Given the description of an element on the screen output the (x, y) to click on. 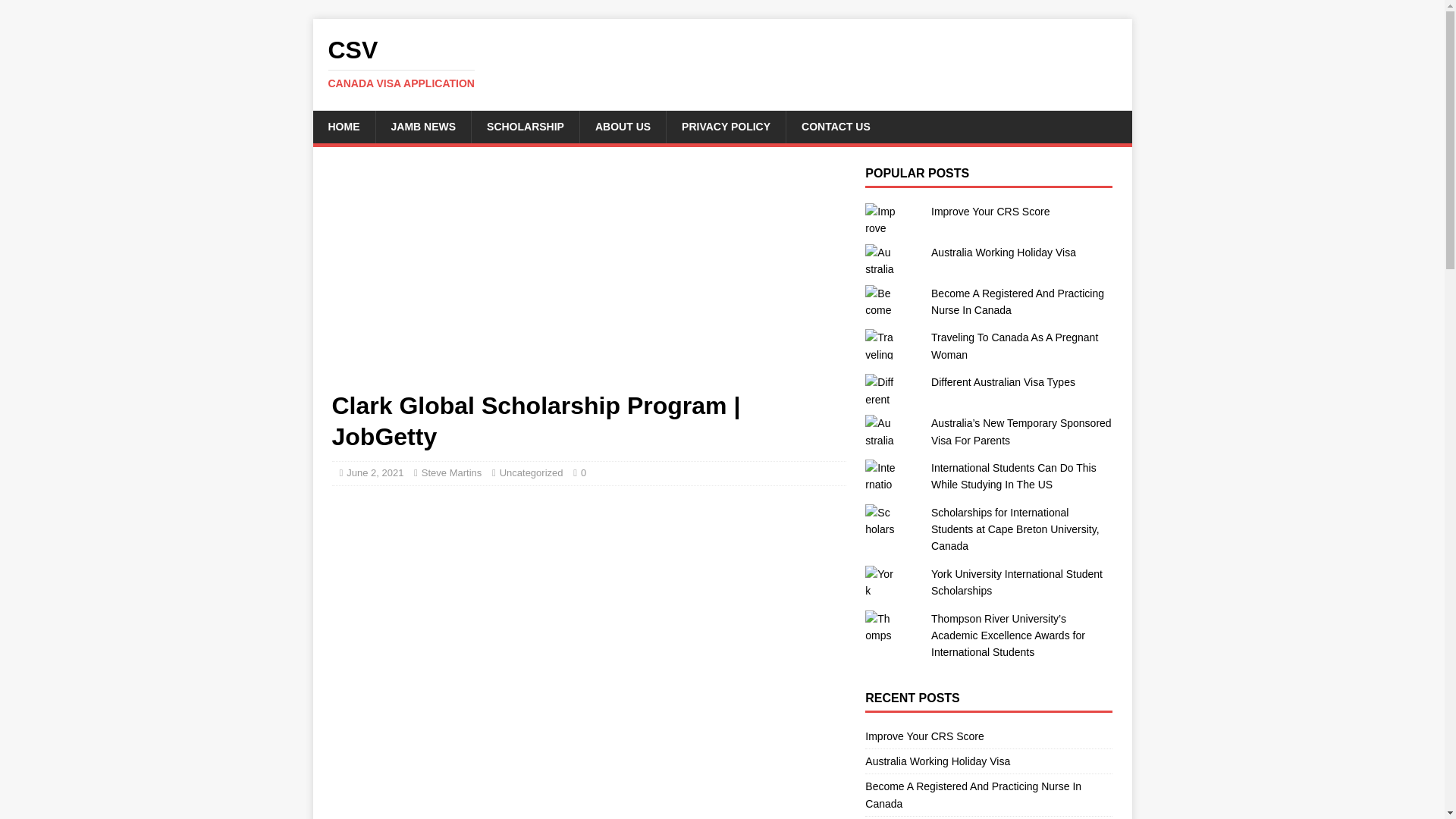
Improve Your CRS Score (990, 211)
Traveling To Canada As A Pregnant Woman (1014, 345)
June 2, 2021 (374, 472)
Become A Registered And Practicing Nurse In Canada (1017, 301)
CSV (721, 63)
Become A Registered And Practicing Nurse In Canada (1017, 301)
International Students Can Do This While Studying In The US (1013, 475)
Different Australian Visa Types (1003, 381)
Steve Martins (451, 472)
JAMB NEWS (422, 126)
